Given the description of an element on the screen output the (x, y) to click on. 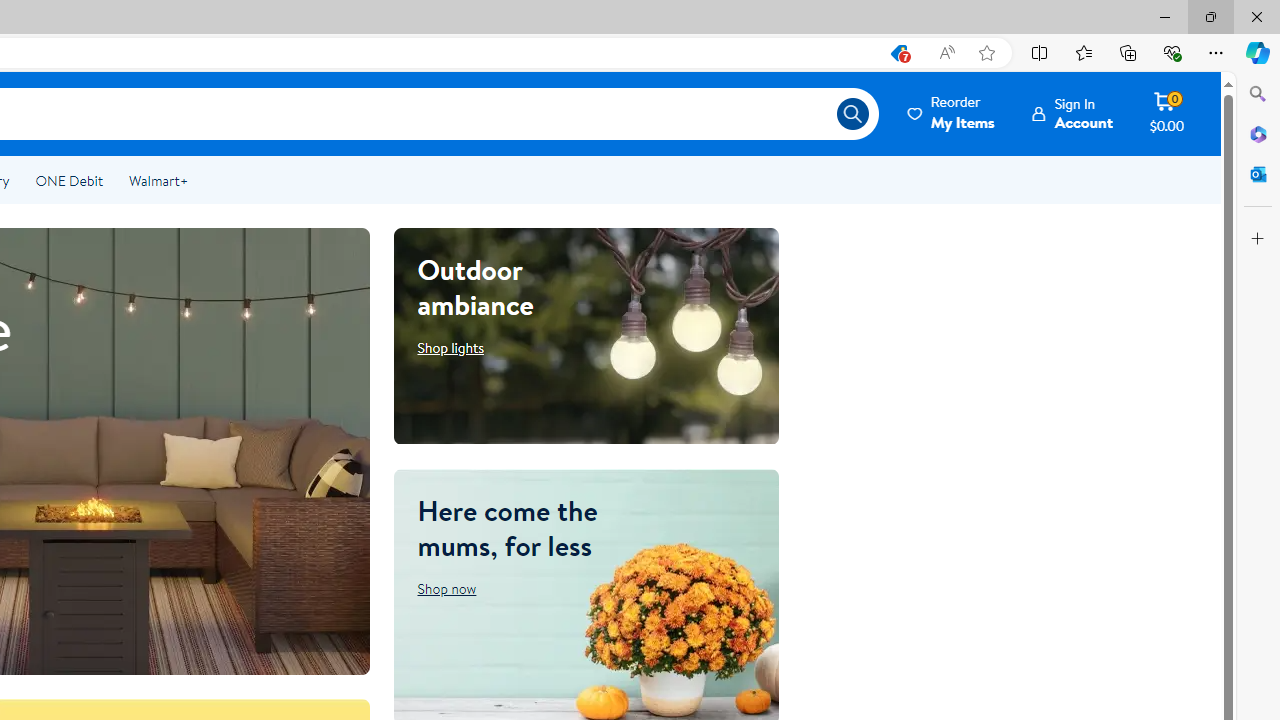
Cart contains 0 items Total Amount $0.00 (1166, 113)
Class: undefined (1162, 113)
This site has coupons! Shopping in Microsoft Edge, 7 (898, 53)
ONE Debit (68, 180)
Search icon (852, 113)
Reorder My Items (952, 113)
Shop lights Outdoor ambiance (450, 347)
Class: dn db-hdkp ml2 relative (1072, 113)
